Given the description of an element on the screen output the (x, y) to click on. 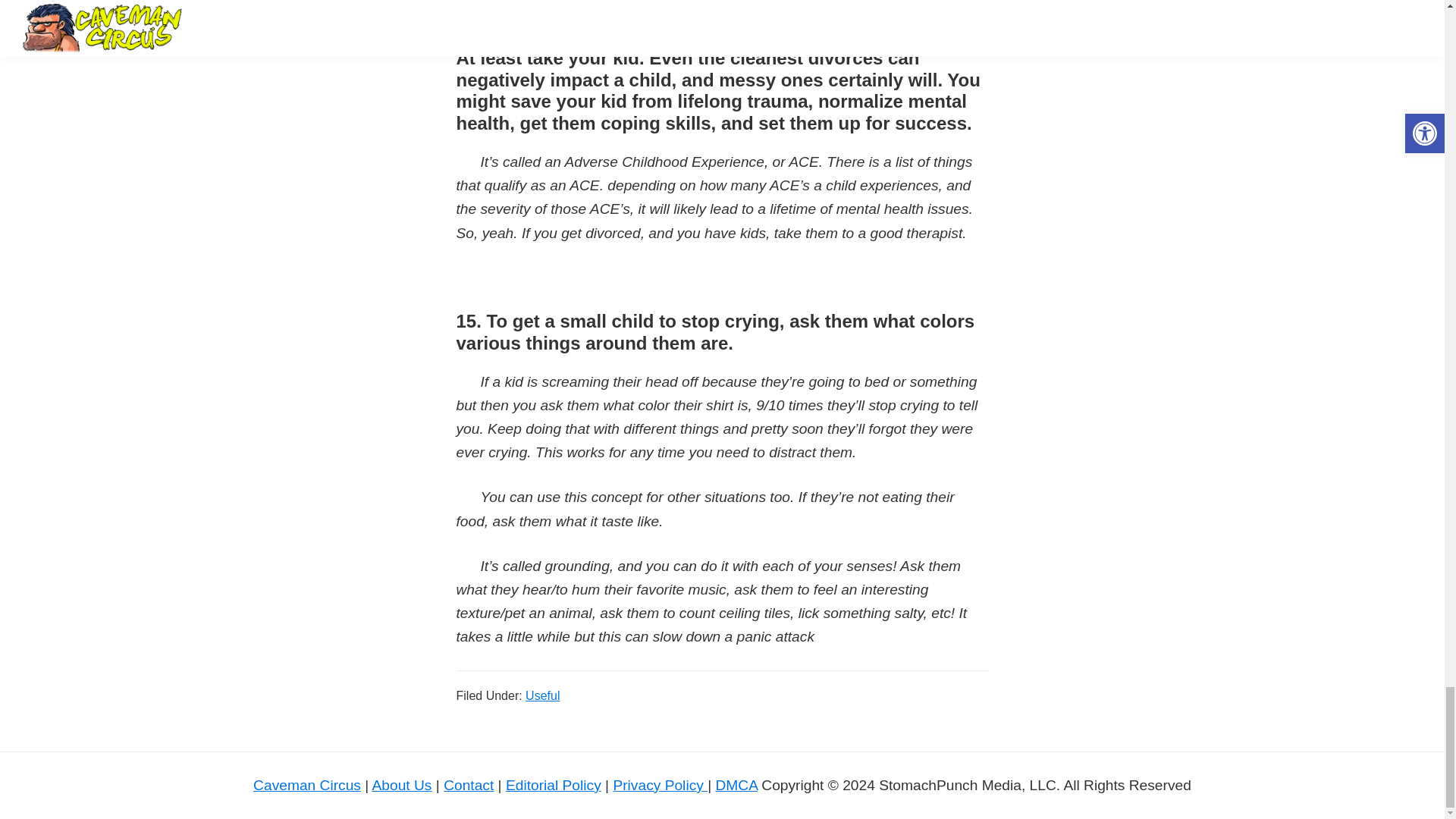
DMCA (736, 785)
About Us (402, 785)
Contact (468, 785)
Privacy Policy (659, 785)
Caveman Circus (307, 785)
Useful (542, 695)
Editorial Policy (553, 785)
